Given the description of an element on the screen output the (x, y) to click on. 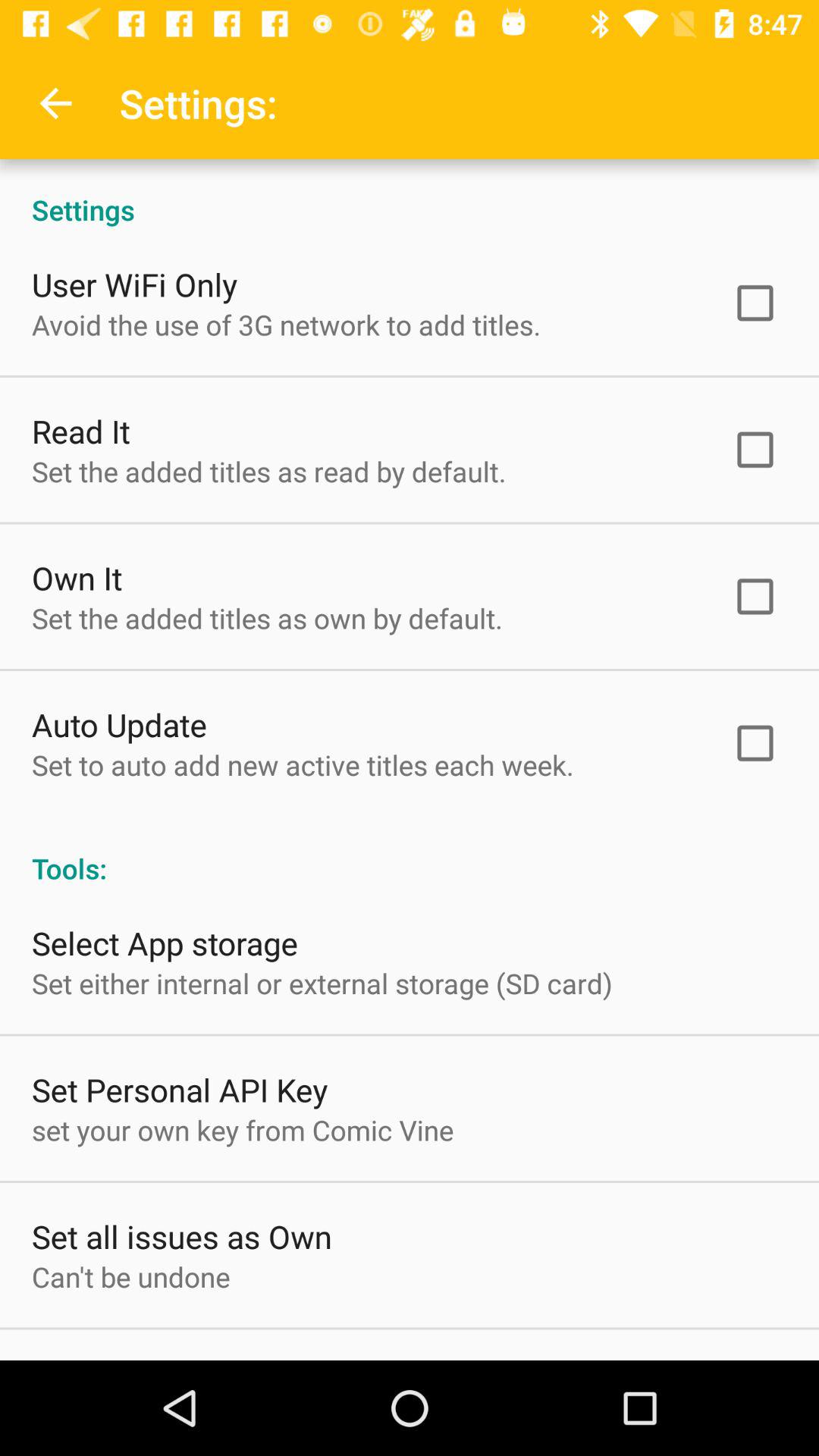
click the own it icon (76, 577)
